Given the description of an element on the screen output the (x, y) to click on. 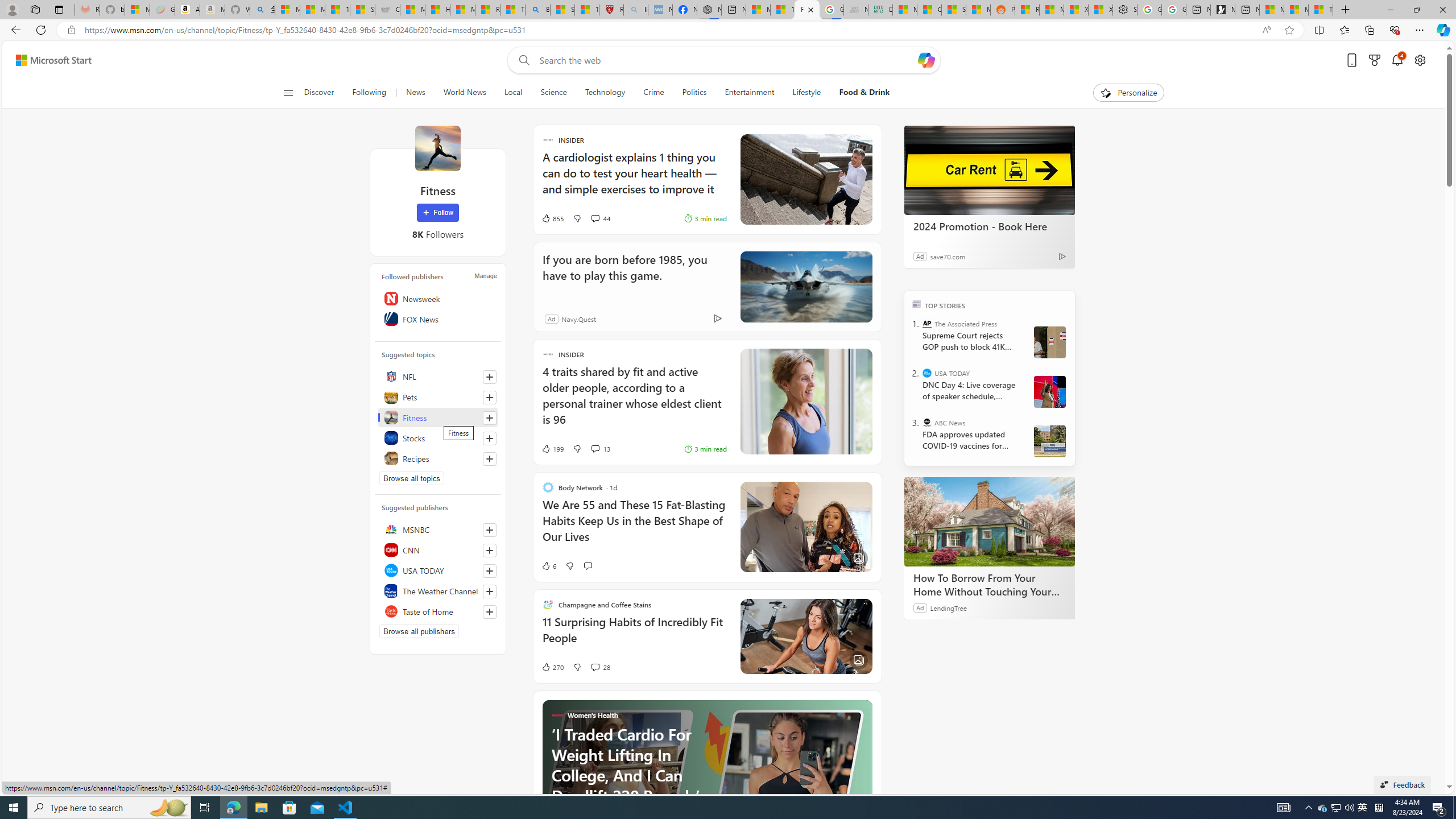
Stocks - MSN (953, 9)
Follow this topic (489, 459)
12 Popular Science Lies that Must be Corrected (586, 9)
World News (464, 92)
Science (553, 92)
Science (553, 92)
View comments 44 Comment (599, 218)
The Weather Channel (437, 590)
View comments 28 Comment (599, 667)
